Given the description of an element on the screen output the (x, y) to click on. 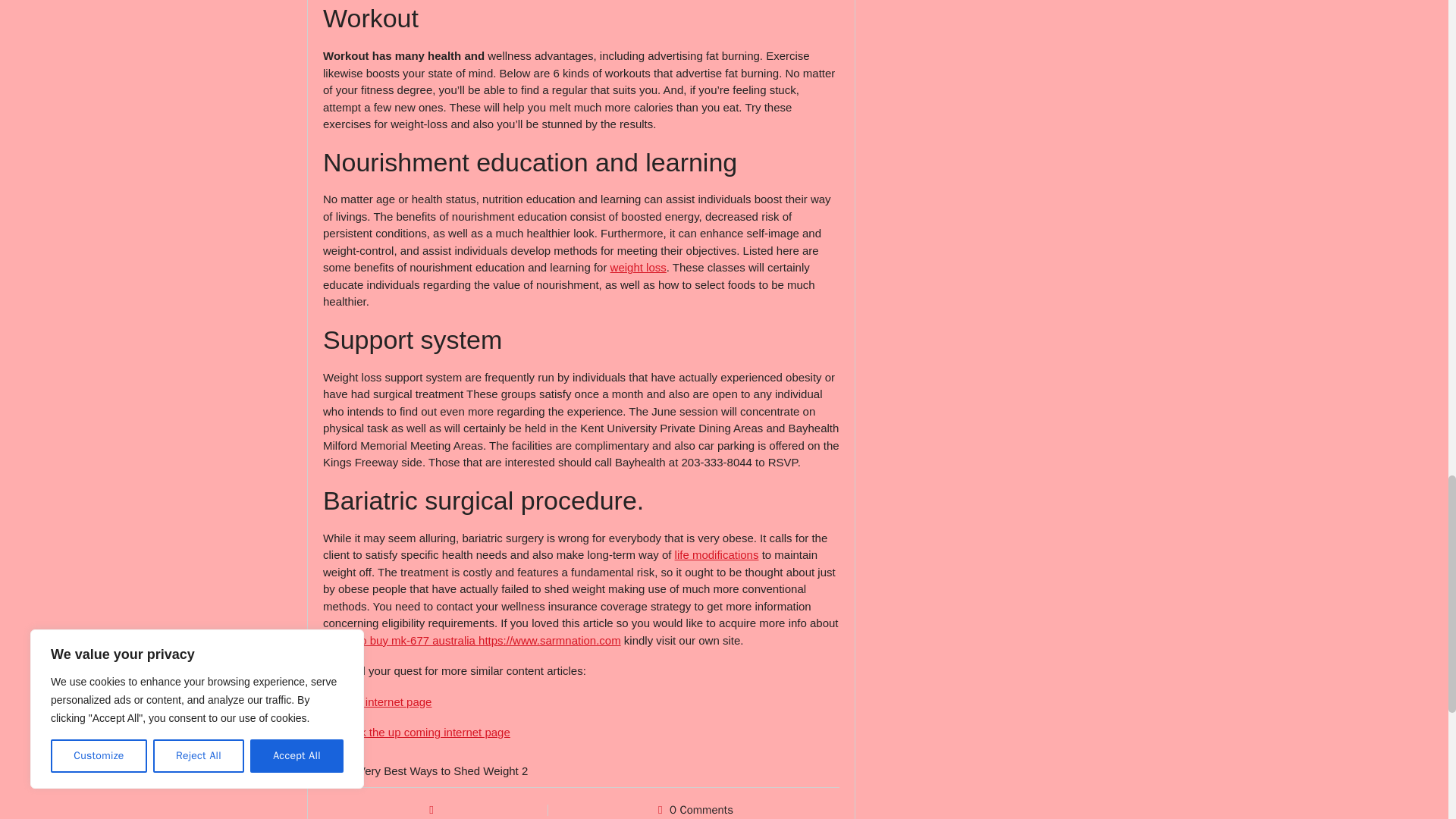
weight loss (638, 267)
just click the up coming internet page (417, 731)
Related internet page (376, 701)
life modifications (716, 554)
